Given the description of an element on the screen output the (x, y) to click on. 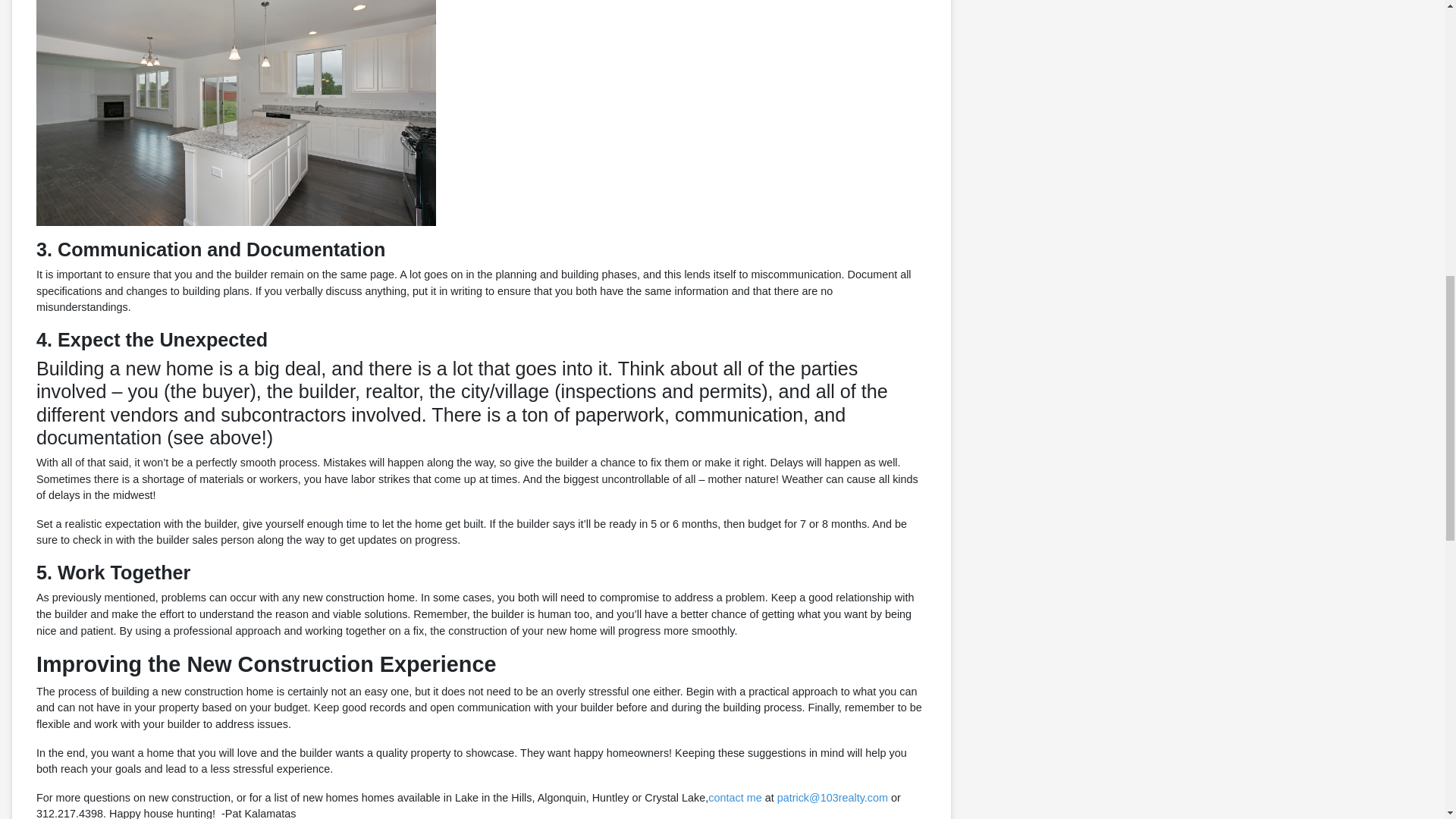
contact me (734, 797)
